Given the description of an element on the screen output the (x, y) to click on. 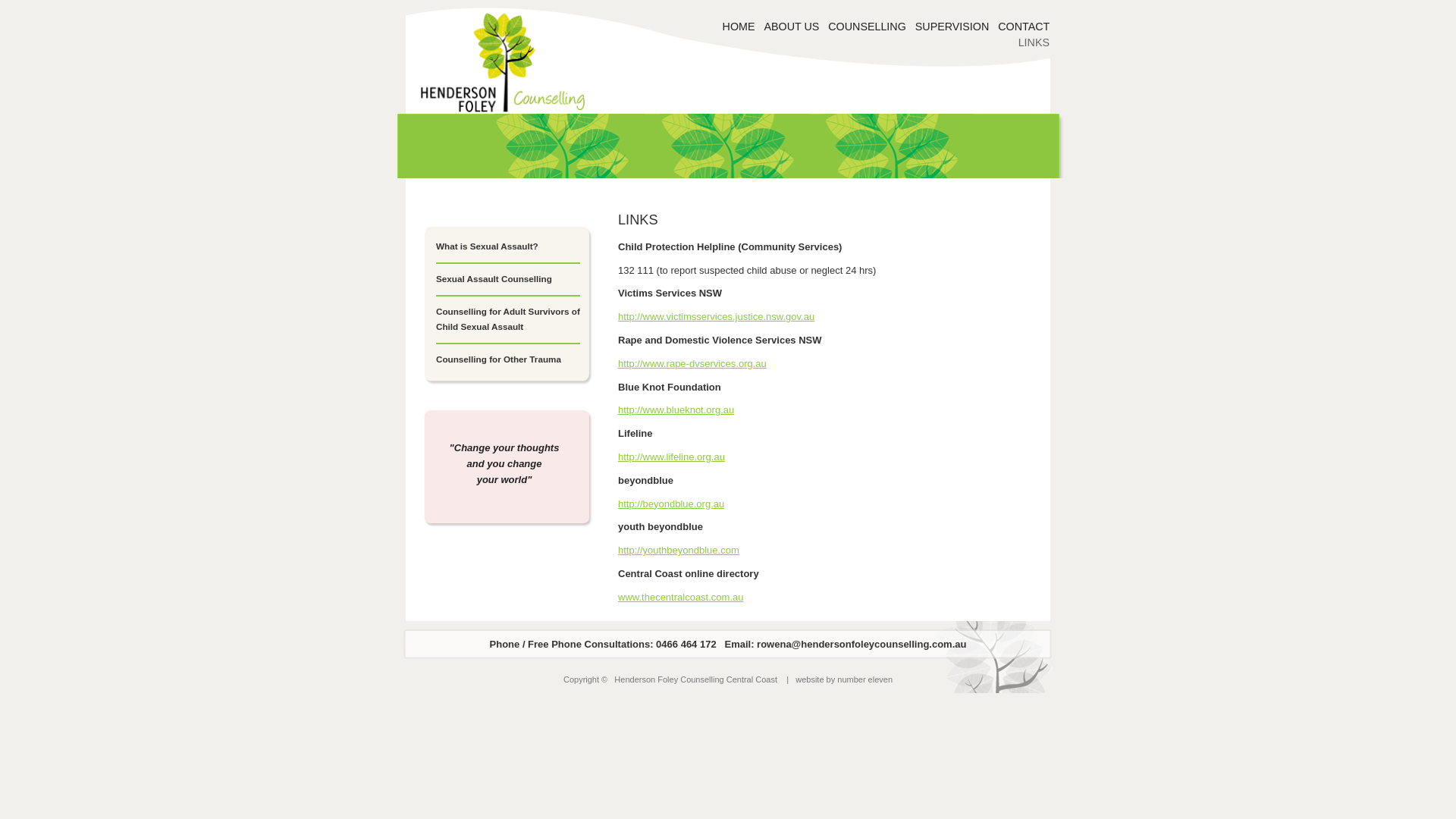
ABOUT US Element type: text (791, 26)
http://youthbeyondblue.com Element type: text (678, 549)
rowena@hendersonfoleycounselling.com.au Element type: text (859, 643)
http://www.blueknot.org.au Element type: text (676, 409)
http://www.victimsservices.justice.nsw.gov.au Element type: text (716, 316)
Counselling for Adult Survivors of Child Sexual Assault Element type: text (508, 319)
COUNSELLING Element type: text (867, 26)
What is Sexual Assault? Element type: text (487, 246)
http://www.rape-dvservices.org.au Element type: text (692, 363)
http://beyondblue.org.au Element type: text (671, 503)
HOME Element type: text (738, 26)
number eleven Element type: text (864, 679)
www.thecentralcoast.com.au Element type: text (680, 596)
Sexual Assault Counselling Element type: text (494, 278)
Counselling for Other Trauma Element type: text (498, 359)
http://www.lifeline.org.au Element type: text (671, 456)
SUPERVISION Element type: text (951, 26)
CONTACT Element type: text (1023, 26)
